Given the description of an element on the screen output the (x, y) to click on. 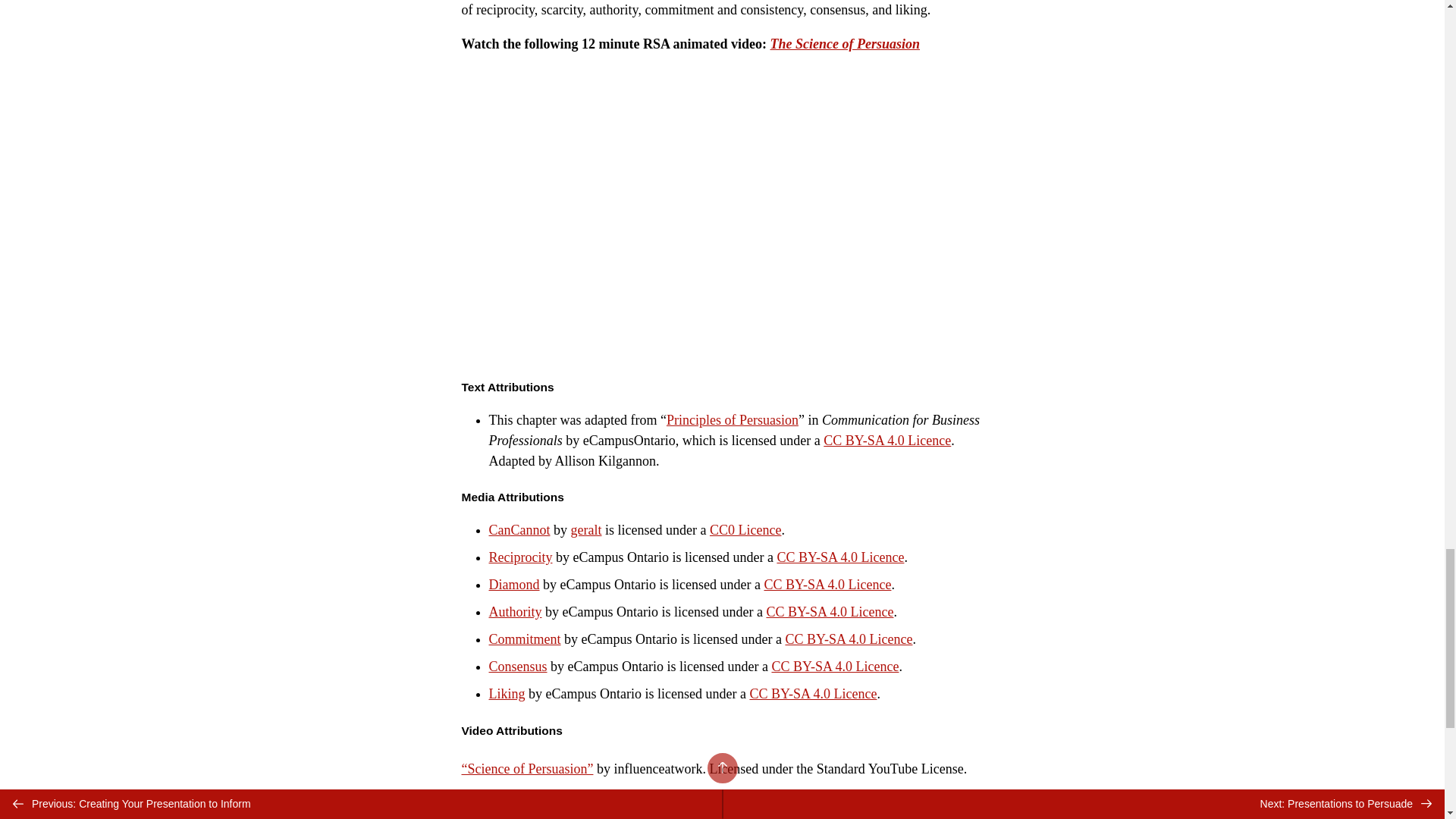
CC BY-SA 4.0 Licence (829, 611)
CC BY-SA 4.0 Licence (826, 584)
CC BY-SA 4.0 Licence (812, 693)
CC BY-SA 4.0 Licence (834, 666)
Authority (514, 611)
geralt (585, 529)
Commitment (523, 639)
CC BY-SA 4.0 Licence (840, 557)
Liking (505, 693)
Consensus (517, 666)
CanCannot (518, 529)
CC BY-SA 4.0 Licence (887, 440)
Diamond (512, 584)
The Science of Persuasion (845, 43)
